Given the description of an element on the screen output the (x, y) to click on. 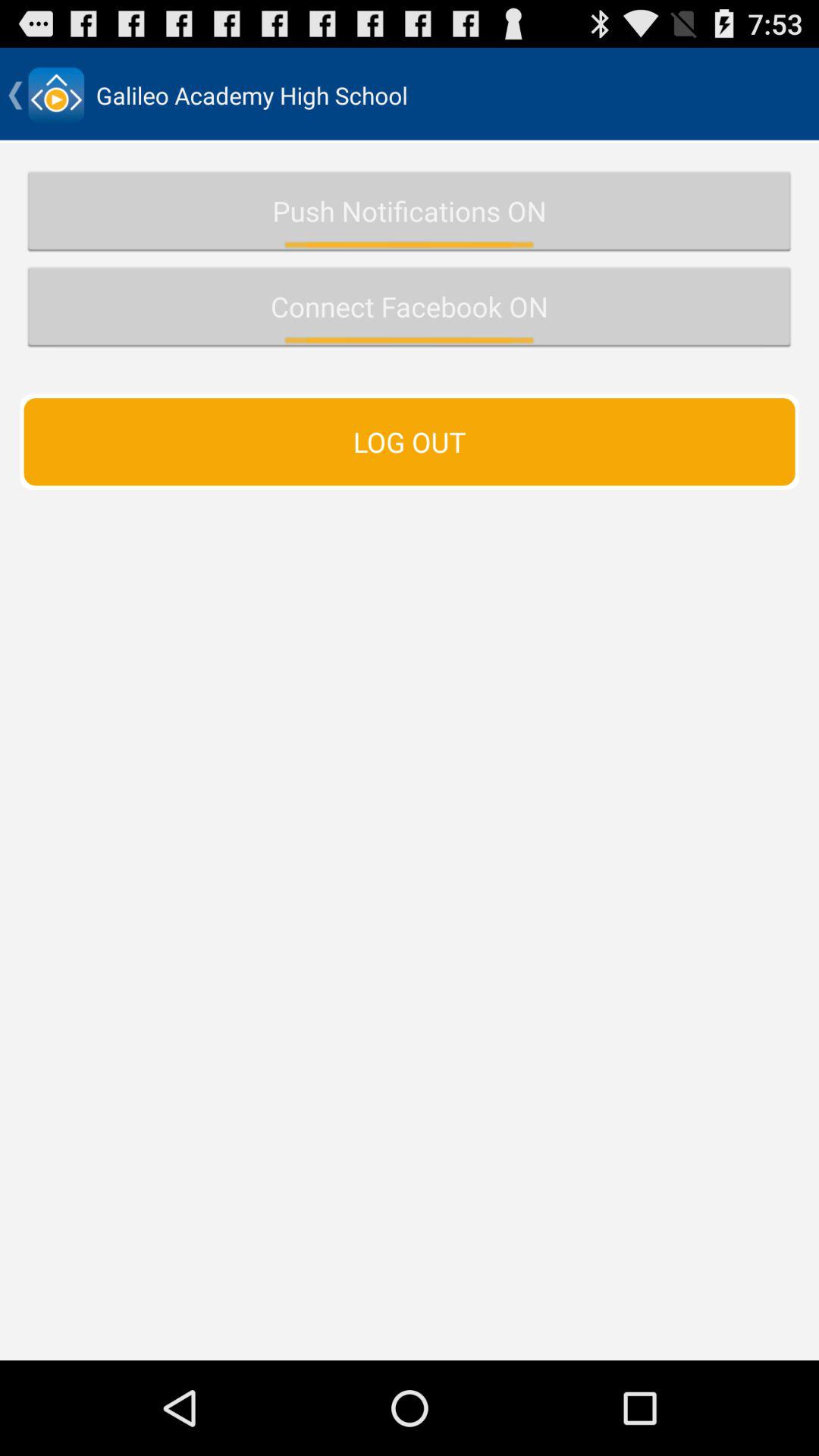
tap the item above connect facebook on icon (409, 210)
